Given the description of an element on the screen output the (x, y) to click on. 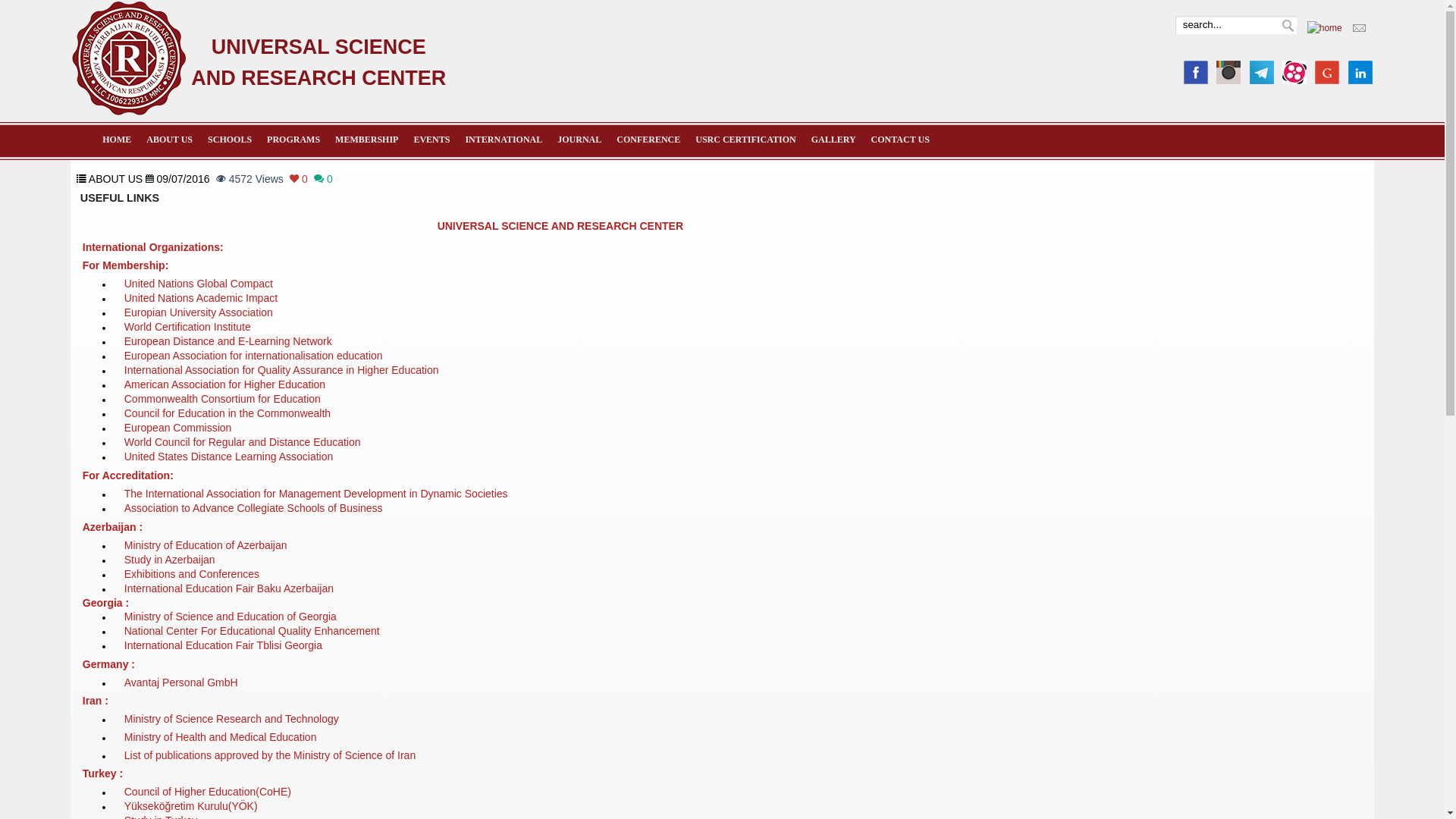
United States Distance Learning Association Element type: text (228, 459)
Ministry of Science Research and Technology Element type: text (231, 718)
International Education Fair Tblisi Georgia Element type: text (223, 646)
INTERNATIONAL Element type: text (503, 139)
SCHOOLS Element type: text (229, 139)
Commonwealth Consortium for Education Element type: text (222, 401)
United Nations Global Compact Element type: text (198, 284)
Europian University Association Element type: text (198, 313)
MEMBERSHIP Element type: text (366, 139)
Study in Azerbaijan Element type: text (169, 560)
PROGRAMS Element type: text (293, 139)
ABOUT US Element type: text (169, 139)
CONFERENCE Element type: text (647, 139)
European Distance and E-Learning Network Element type: text (228, 342)
World Certification Institute Element type: text (187, 327)
Association to Advance Collegiate Schools of Business Element type: text (253, 508)
EVENTS Element type: text (431, 139)
Ministry of Science and Education of Georgia Element type: text (230, 616)
European Association for internationalisation education Element type: text (253, 356)
Search Element type: text (1287, 25)
Avantaj Personal GmbH Element type: text (181, 682)
HOME Element type: text (116, 139)
American Association for Higher Education Element type: text (224, 387)
Ministry of Health and Medical Education Element type: text (220, 737)
Exhibitions and Conferences Element type: text (191, 573)
World Council for Regular and Distance Education Element type: text (242, 445)
European Commission Element type: text (178, 430)
Ministry of Education of Azerbaijan Element type: text (205, 545)
Council of Higher Education(CoHE) Element type: text (207, 791)
International Education Fair Baku Azerbaijan Element type: text (228, 588)
JOURNAL Element type: text (578, 139)
contact us Element type: hover (1358, 30)
UNIVERSAL SCIENCE
AND RESEARCH CENTER Element type: text (128, 111)
USRC CERTIFICATION Element type: text (745, 139)
National Center For Educational Quality Enhancement Element type: text (251, 631)
Council for Education in the Commonwealth Element type: text (227, 416)
home Element type: hover (1324, 27)
United Nations Academic Impact Element type: text (200, 298)
CONTACT US Element type: text (900, 139)
GALLERY Element type: text (833, 139)
